Given the description of an element on the screen output the (x, y) to click on. 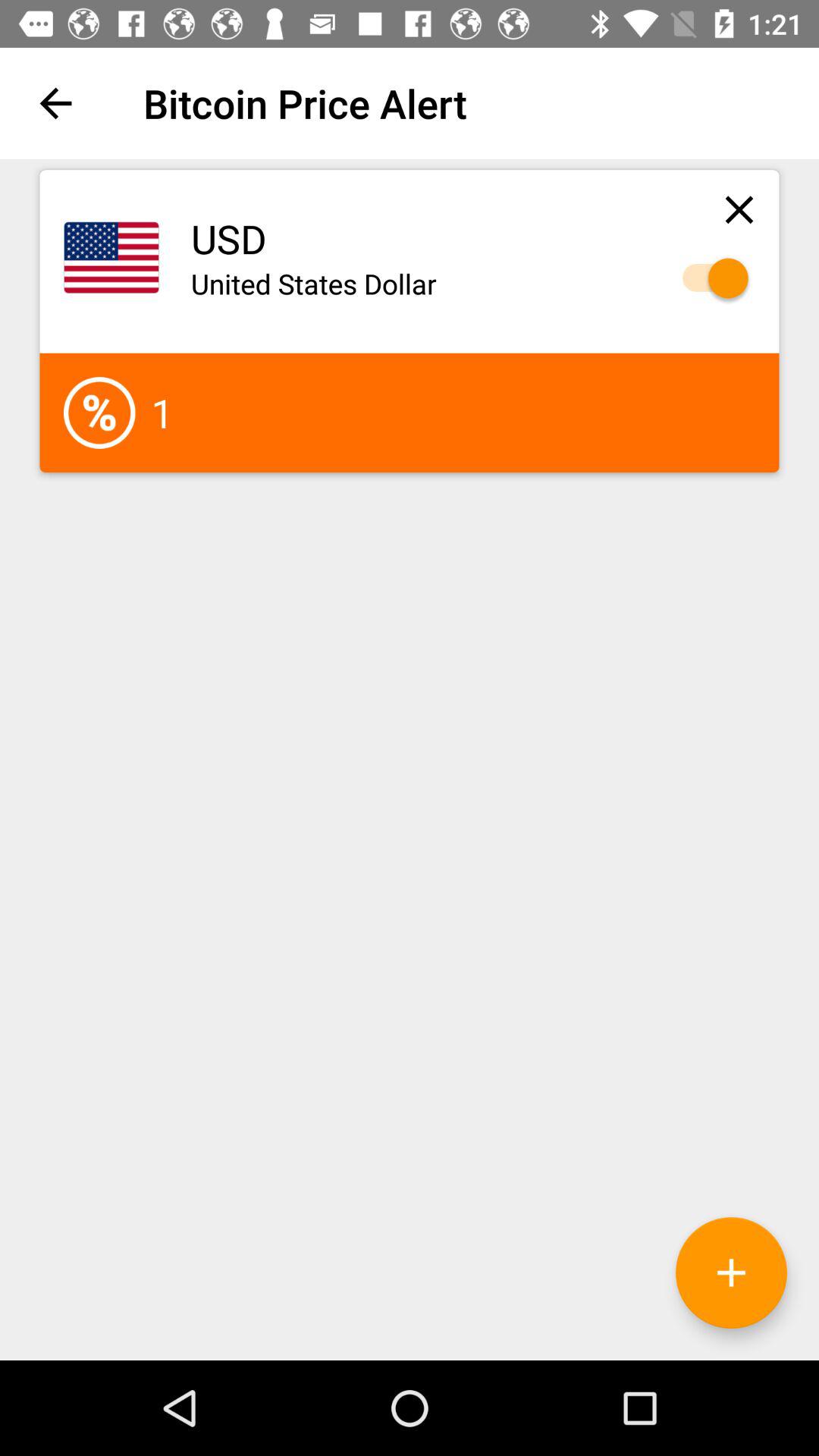
turn off the icon to the right of the united states dollar item (707, 278)
